Given the description of an element on the screen output the (x, y) to click on. 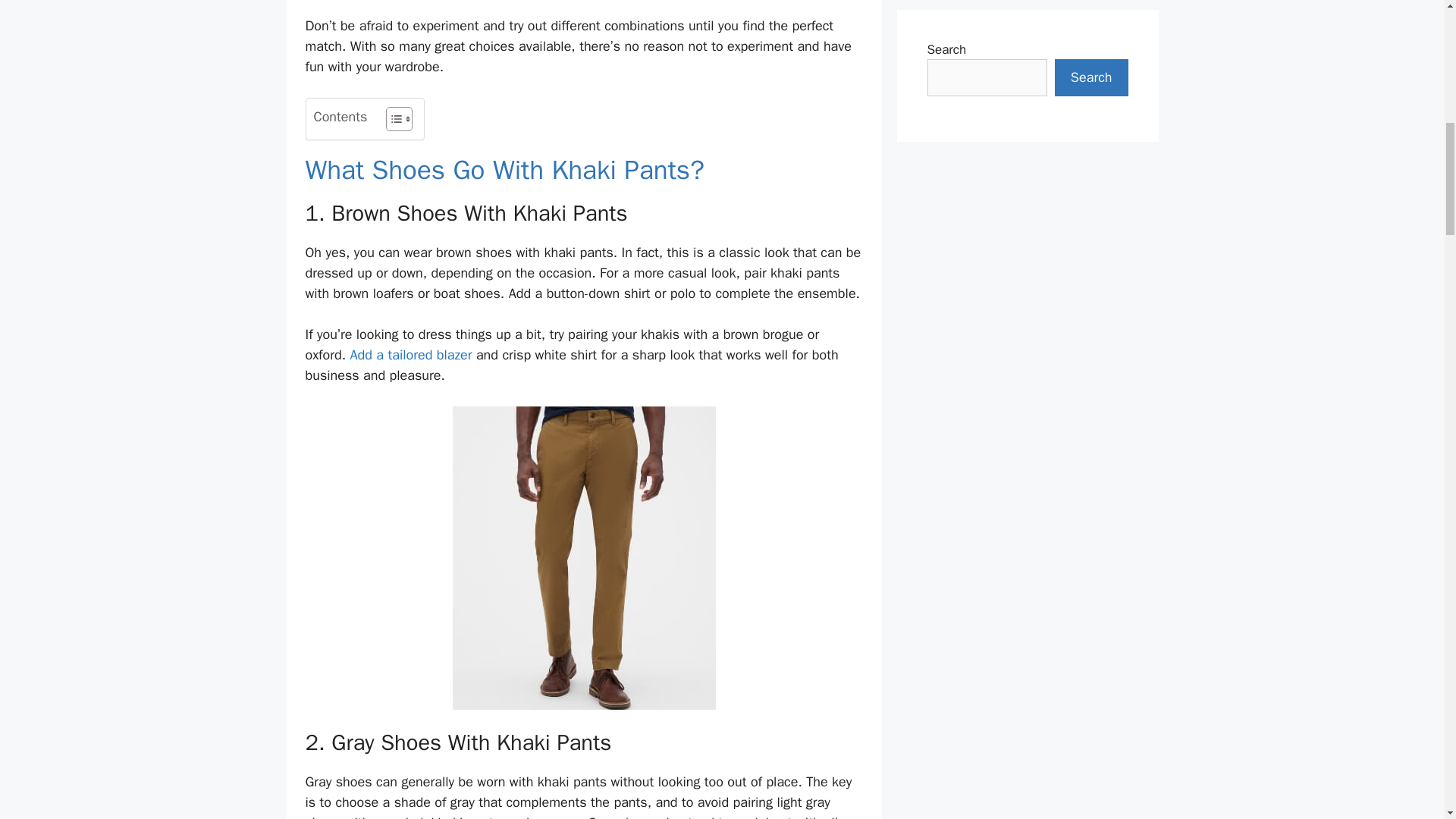
Add a tailored blazer (410, 354)
